Given the description of an element on the screen output the (x, y) to click on. 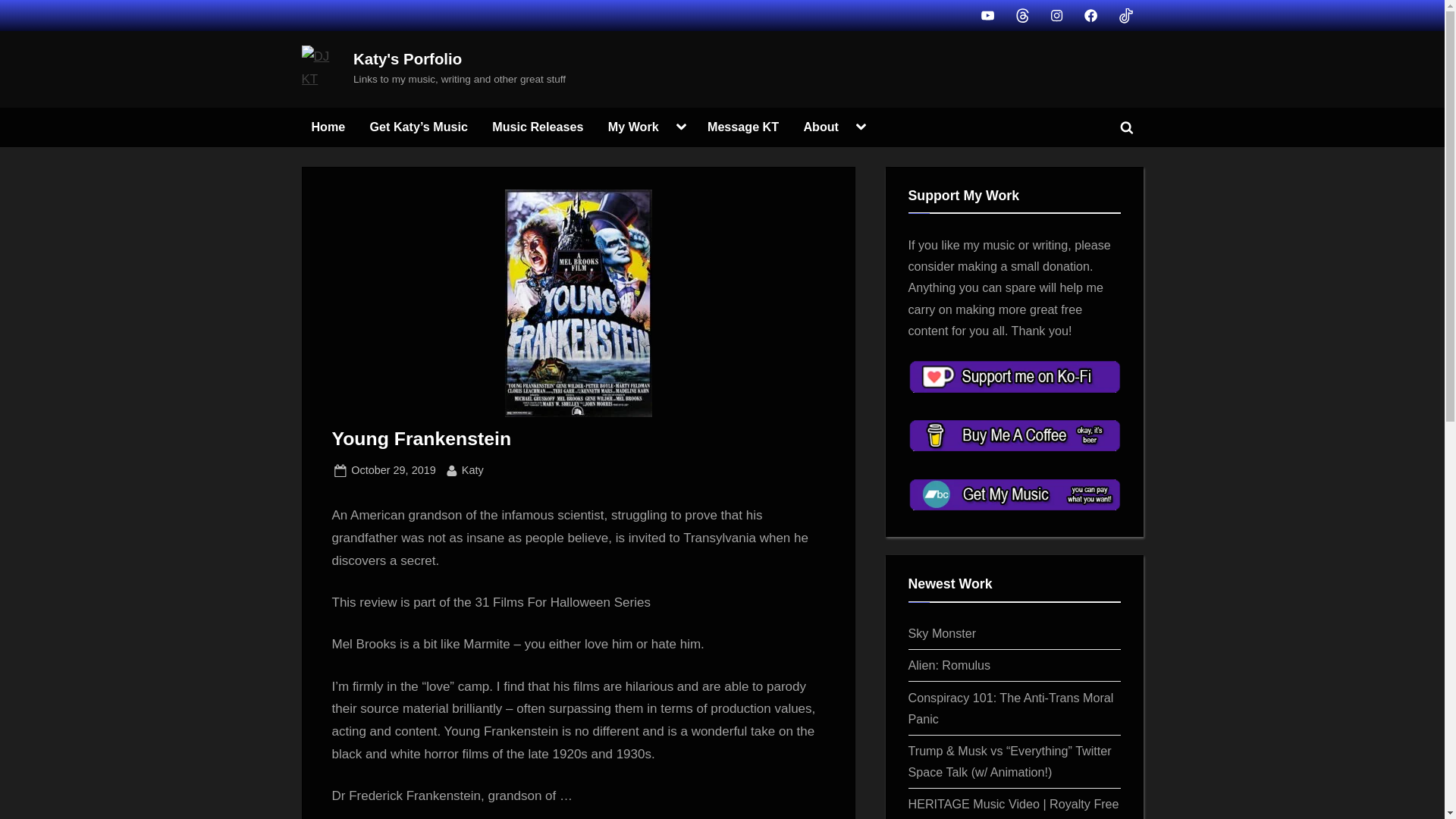
Music Releases (536, 127)
Toggle sub-menu (681, 127)
Katy's Porfolio (407, 58)
About (820, 127)
My Work (633, 127)
Toggle sub-menu (861, 127)
Message KT (743, 127)
Home (392, 470)
YouTube (328, 127)
